Given the description of an element on the screen output the (x, y) to click on. 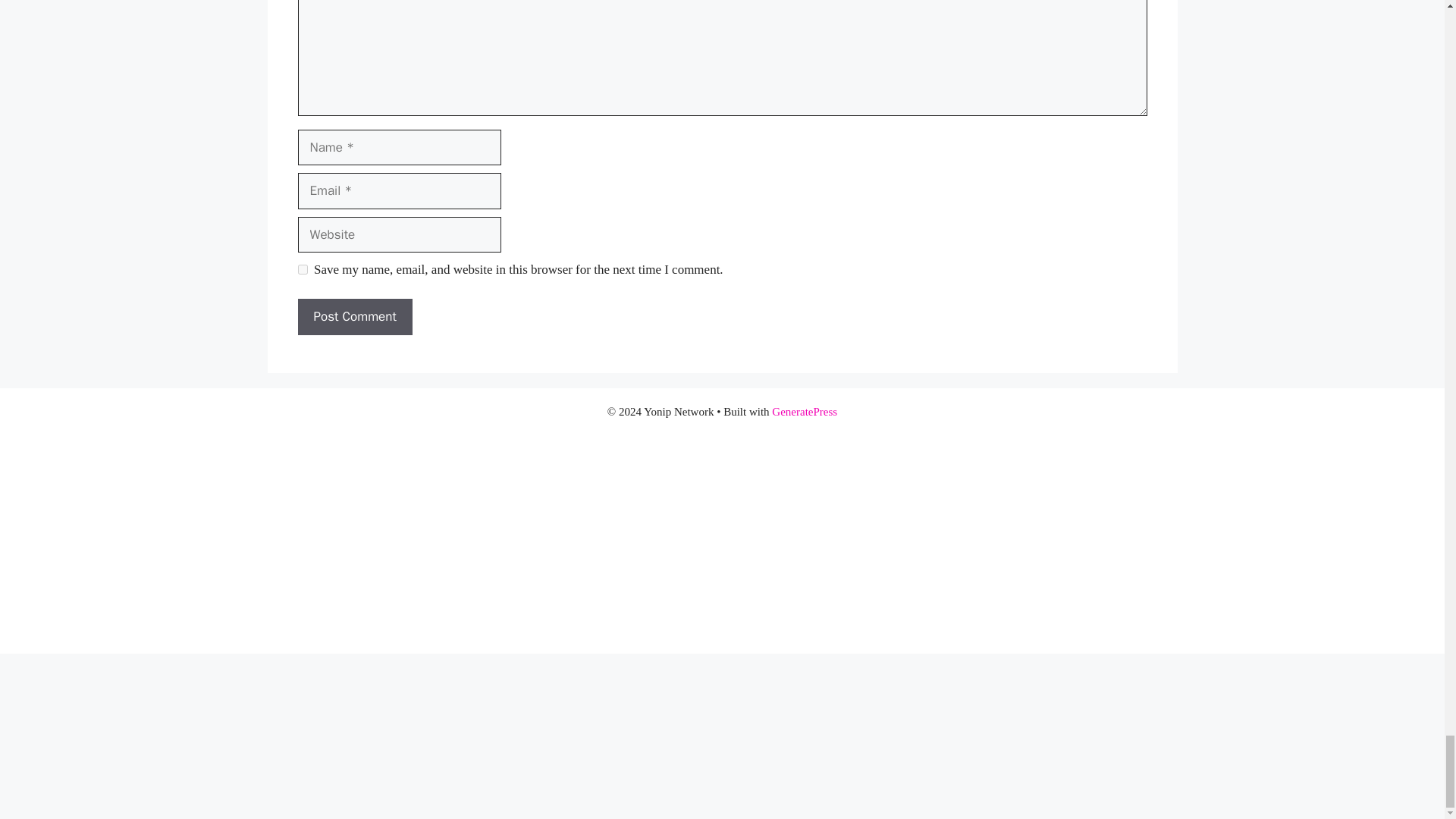
Post Comment (354, 316)
yes (302, 269)
